Given the description of an element on the screen output the (x, y) to click on. 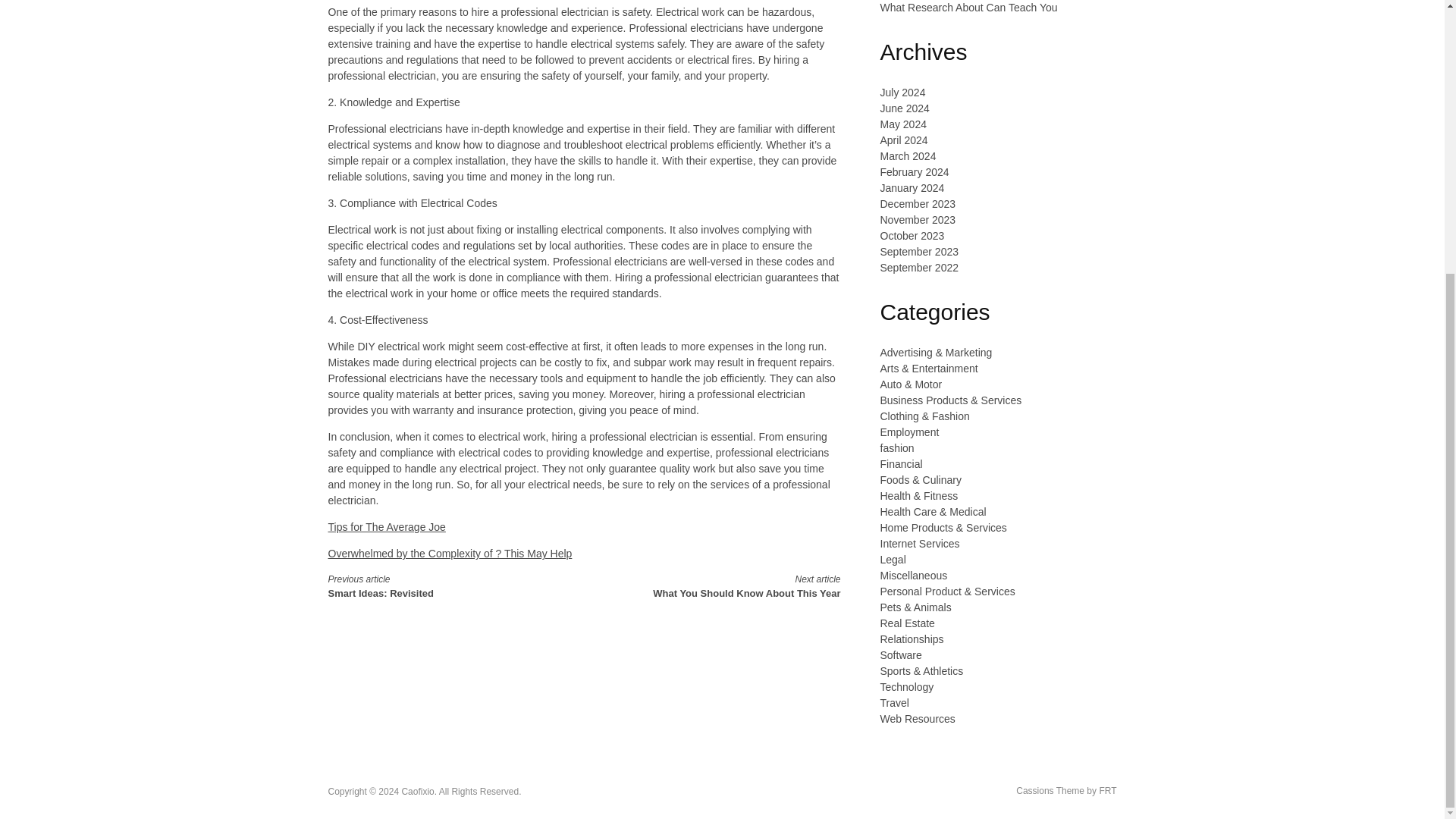
July 2024 (901, 92)
September 2022 (918, 267)
fashion (896, 448)
Overwhelmed by the Complexity of ? This May Help (449, 553)
December 2023 (917, 203)
Employment (725, 585)
What Research About Can Teach You (909, 431)
May 2024 (968, 7)
April 2024 (902, 123)
November 2023 (903, 140)
September 2023 (917, 219)
January 2024 (918, 251)
October 2023 (442, 585)
